Given the description of an element on the screen output the (x, y) to click on. 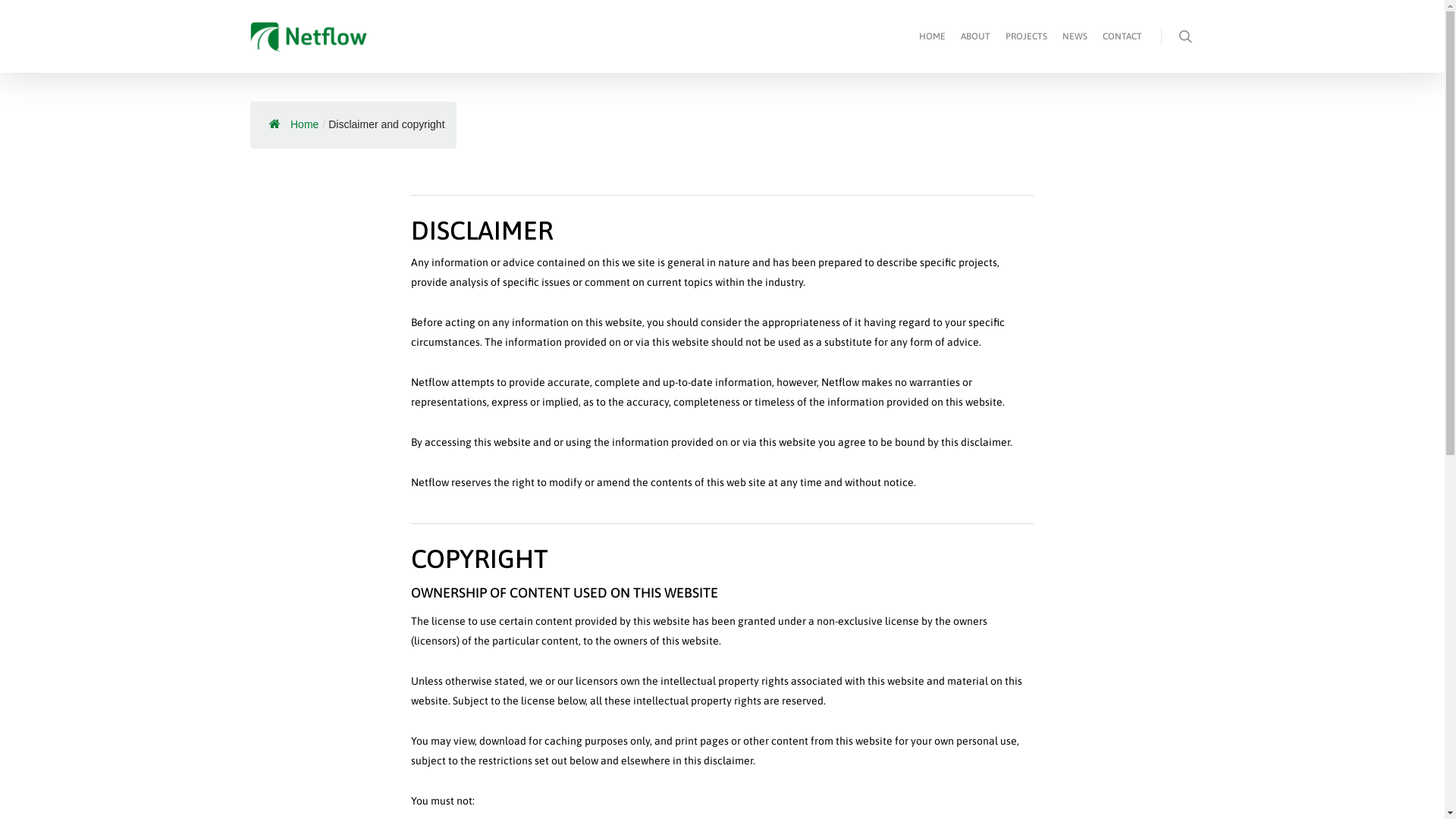
ABOUT Element type: text (975, 46)
PROJECTS Element type: text (1026, 46)
CONTACT Element type: text (1122, 46)
NEWS Element type: text (1074, 46)
HOME Element type: text (932, 46)
Home Element type: text (290, 124)
